Given the description of an element on the screen output the (x, y) to click on. 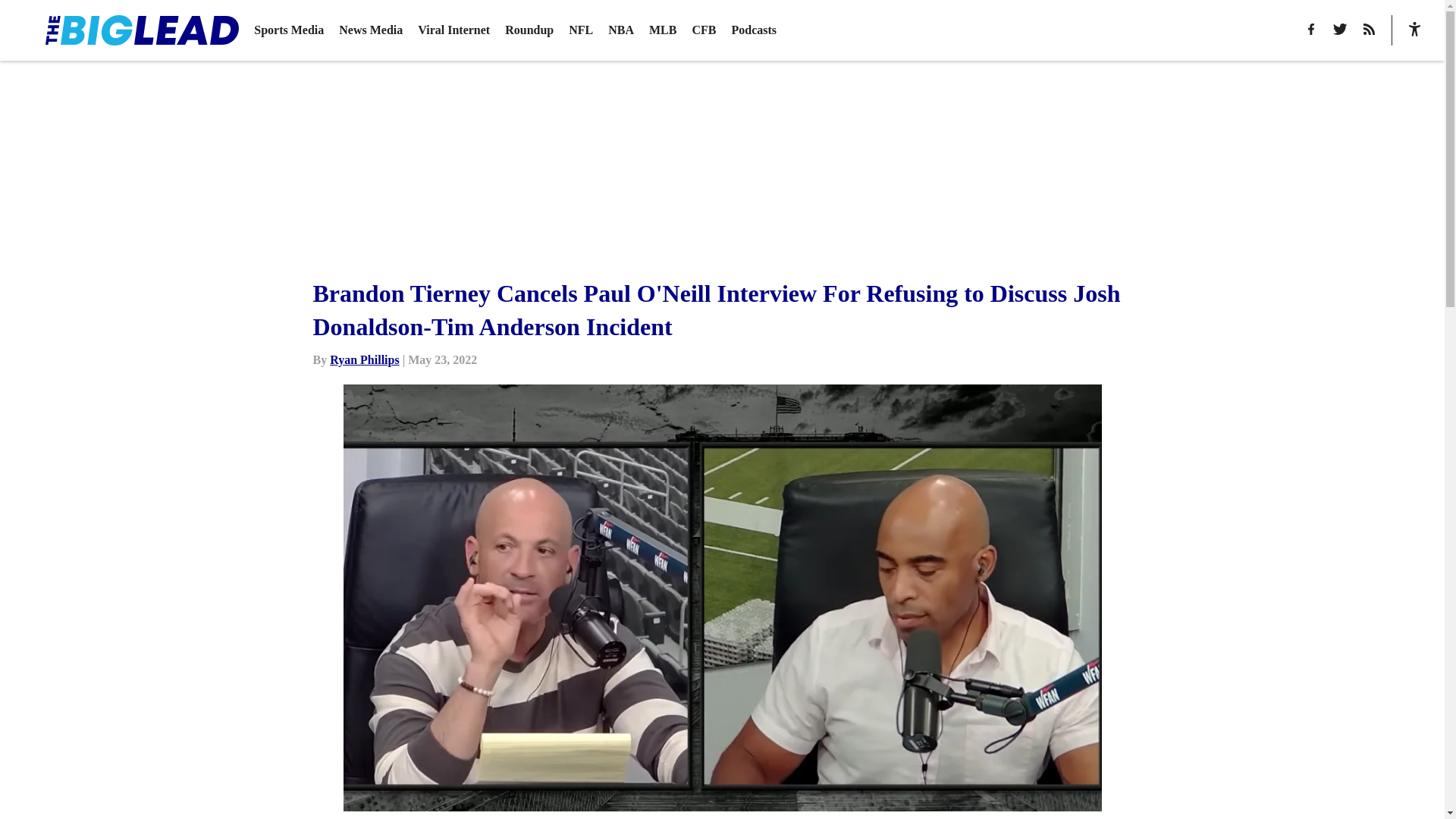
CFB (703, 30)
Viral Internet (453, 30)
Sports Media (288, 30)
MLB (663, 30)
Podcasts (753, 30)
Ryan Phillips (364, 359)
NFL (580, 30)
NBA (620, 30)
News Media (371, 30)
Roundup (529, 30)
